Given the description of an element on the screen output the (x, y) to click on. 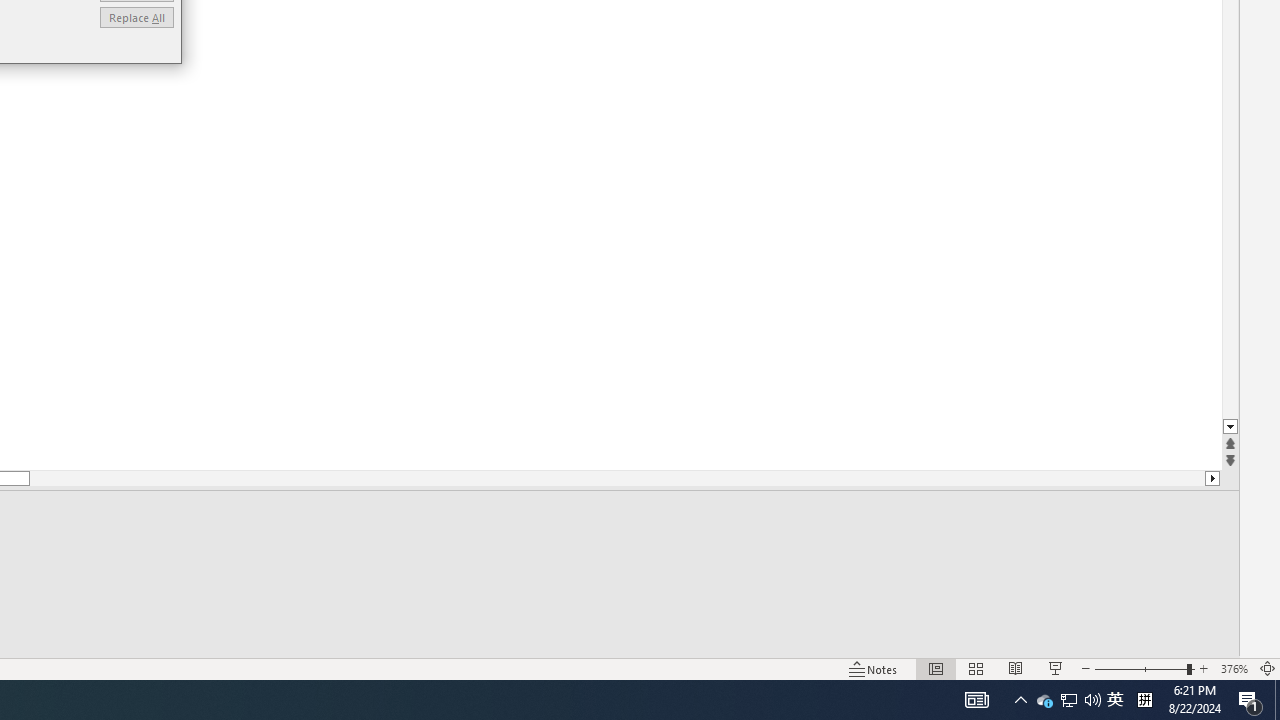
Replace All (136, 16)
Tray Input Indicator - Chinese (Simplified, China) (1044, 699)
Show desktop (1144, 699)
Action Center, 1 new notification (1277, 699)
Notes  (1250, 699)
Zoom 376% (1115, 699)
User Promoted Notification Area (874, 668)
AutomationID: 4105 (1234, 668)
Line down (1068, 699)
Q2790: 100% (1069, 699)
